Given the description of an element on the screen output the (x, y) to click on. 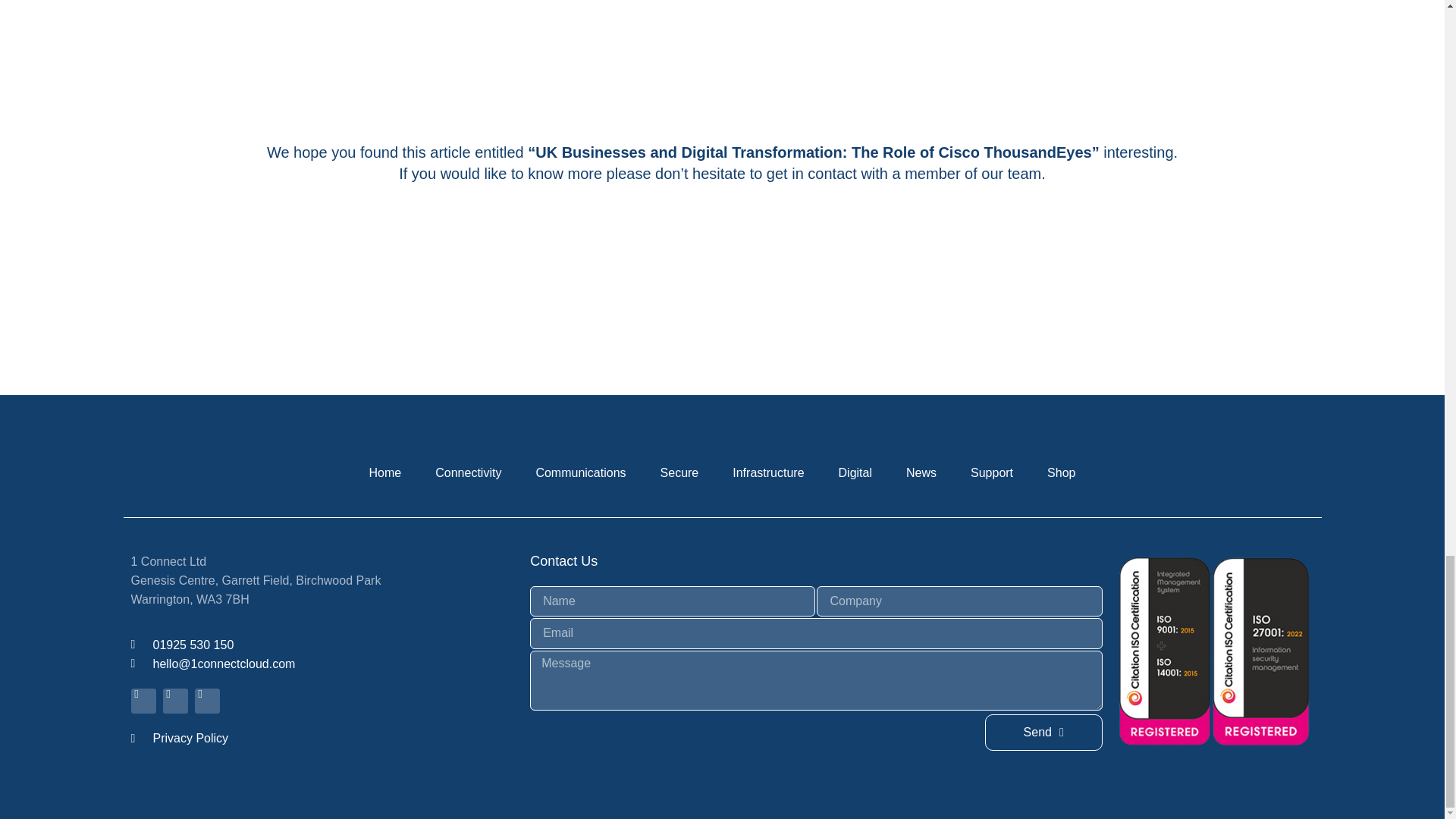
Secure (679, 472)
Infrastructure (767, 472)
Home (384, 472)
Shop (1061, 472)
Communications (579, 472)
Digital (855, 472)
Connectivity (468, 472)
News (921, 472)
